Given the description of an element on the screen output the (x, y) to click on. 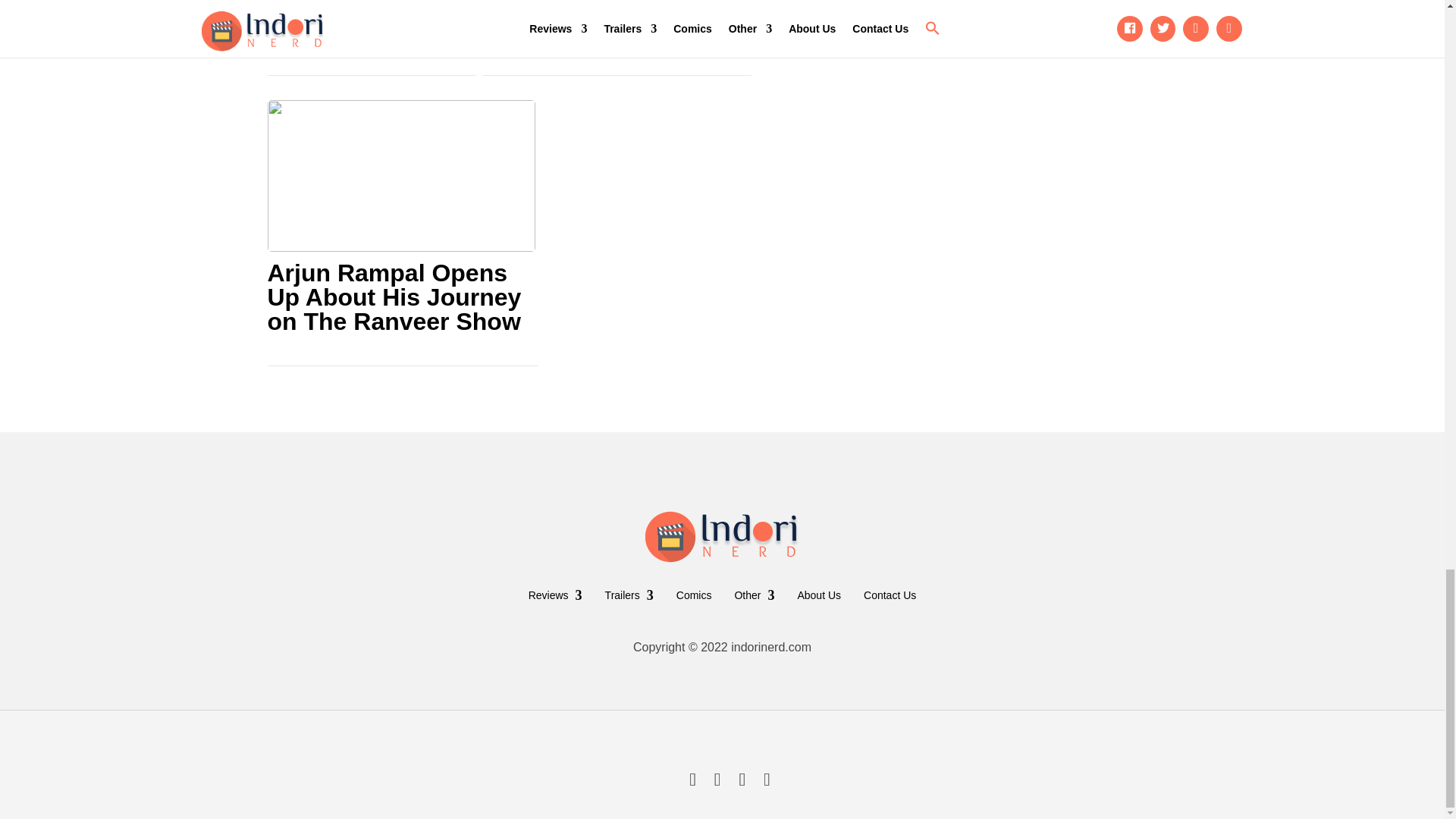
Arjun Rampal Opens Up About His Journey on The Ranveer Show (400, 297)
Arjun Rampal Opens Up About His Journey on The Ranveer Show (400, 297)
